Given the description of an element on the screen output the (x, y) to click on. 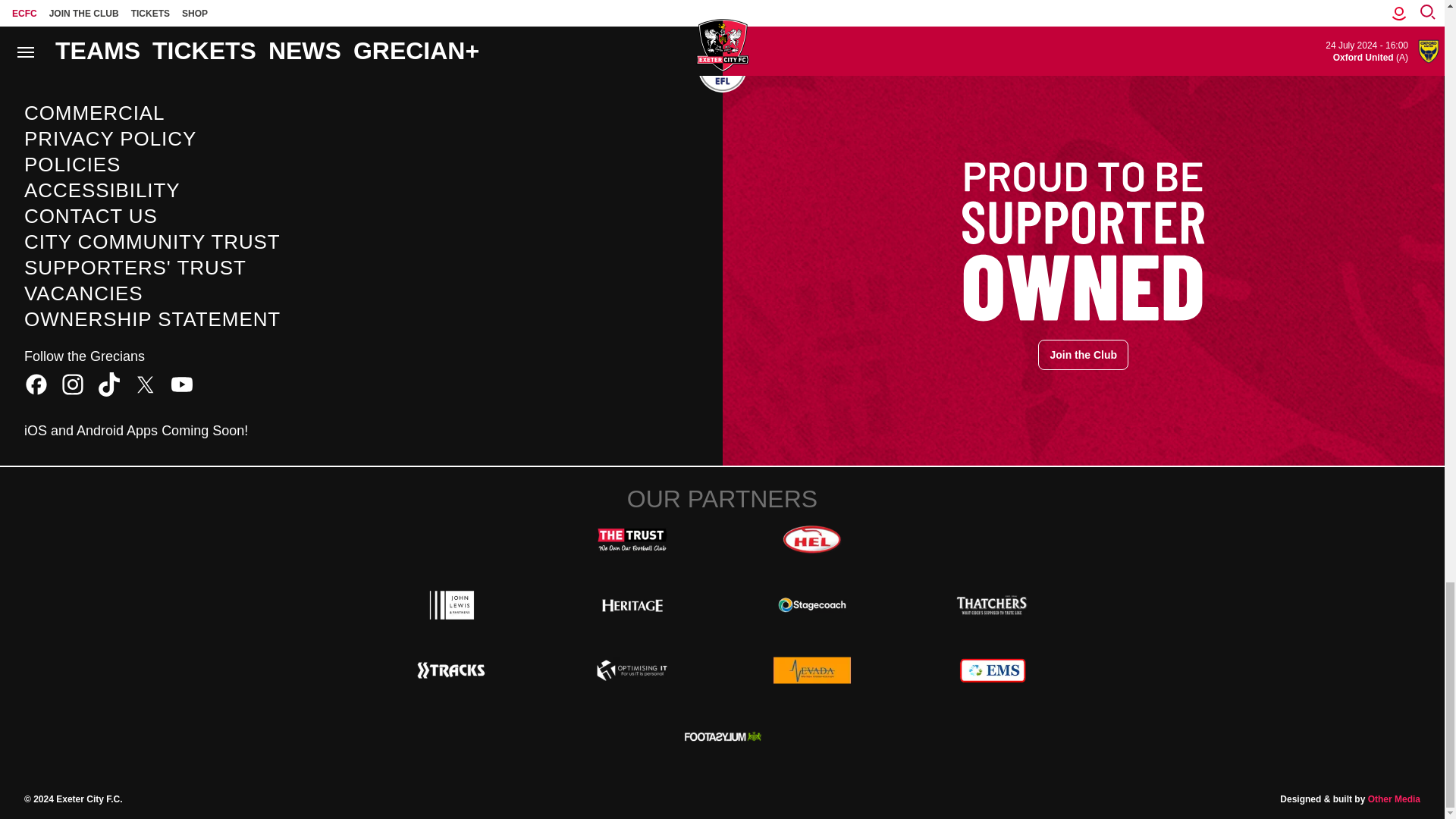
Footasylum (721, 735)
Heritage Developments (632, 604)
EMS (991, 669)
The Trust (632, 539)
Stagecoach (812, 604)
HEL (812, 539)
John Lewis (451, 604)
TikTok icon (108, 384)
Facebook (36, 384)
Optimising IT (632, 669)
Nevada Construction  (812, 669)
Instagram (72, 384)
X Formally know as Twitter (145, 384)
Thatchers (991, 604)
Tracks Suzuki (451, 669)
